Given the description of an element on the screen output the (x, y) to click on. 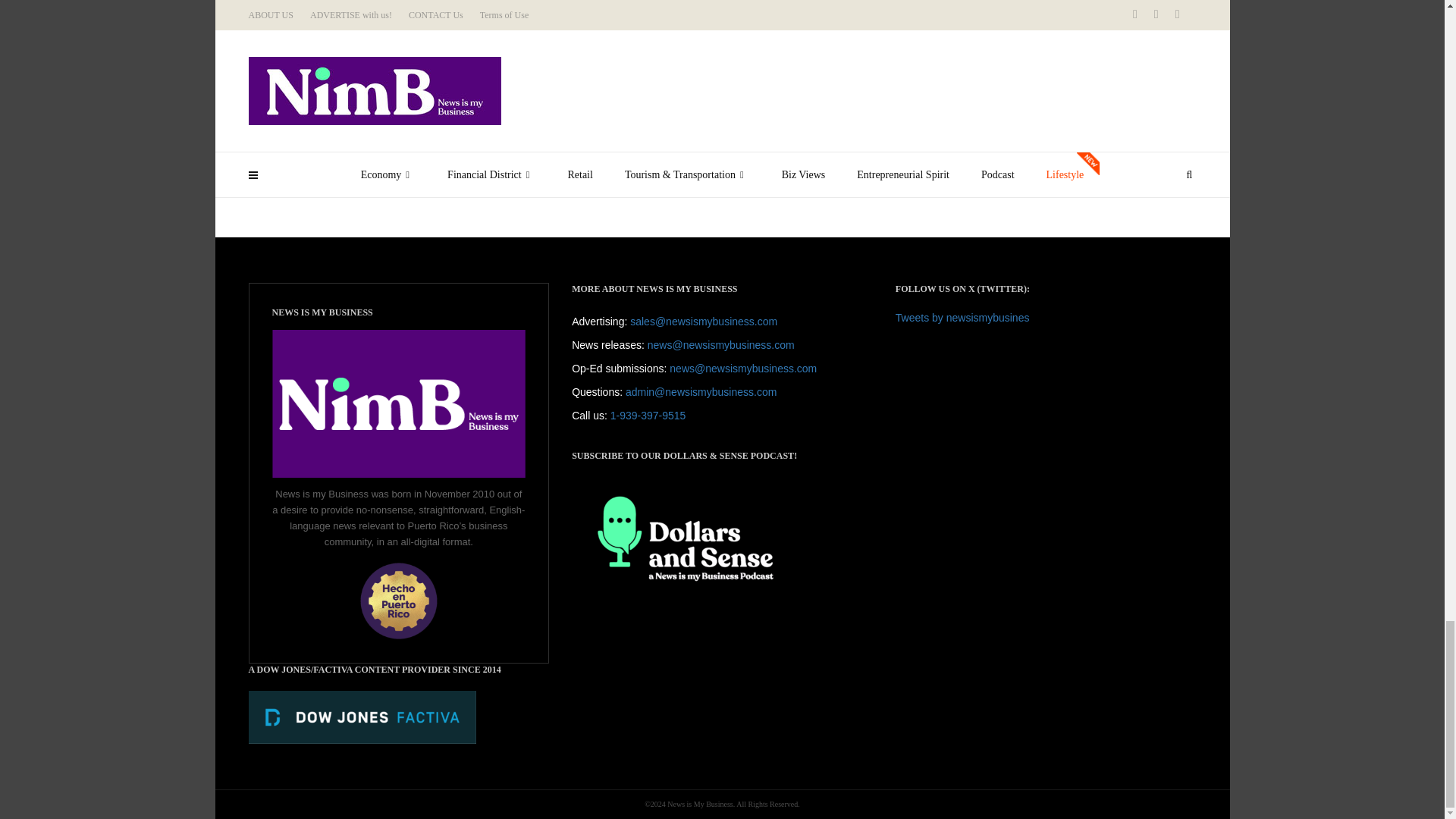
Post Comment (309, 161)
yes (253, 137)
